Given the description of an element on the screen output the (x, y) to click on. 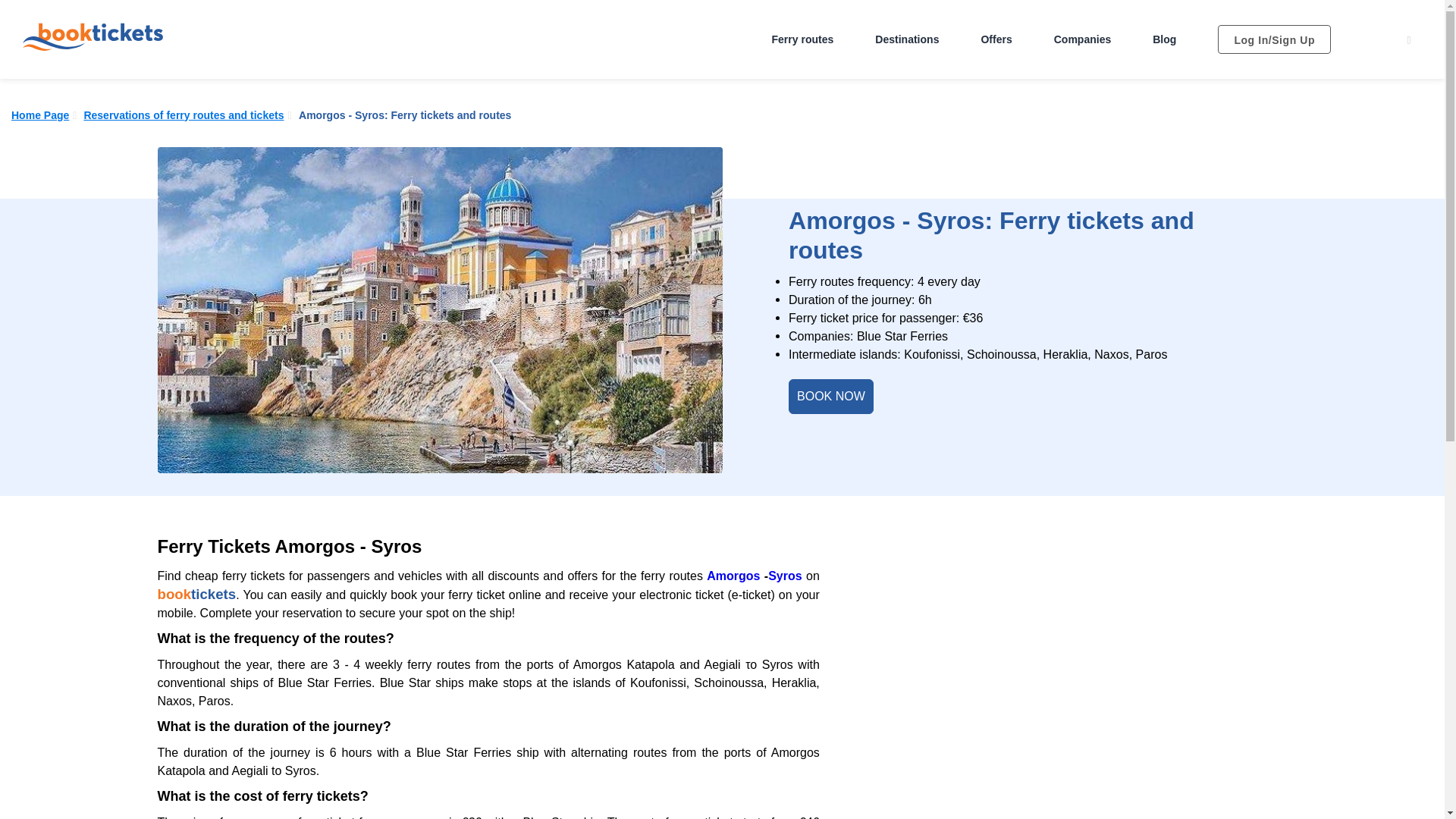
Amorgos (735, 575)
Reservations of ferry routes and tickets (182, 114)
Companies (1083, 39)
Syros (787, 575)
Home Page (39, 114)
Destinations (907, 39)
Blog (1164, 39)
Ferry routes (802, 39)
Offers (995, 39)
Reservations of ferry routes and tickets (182, 114)
